Given the description of an element on the screen output the (x, y) to click on. 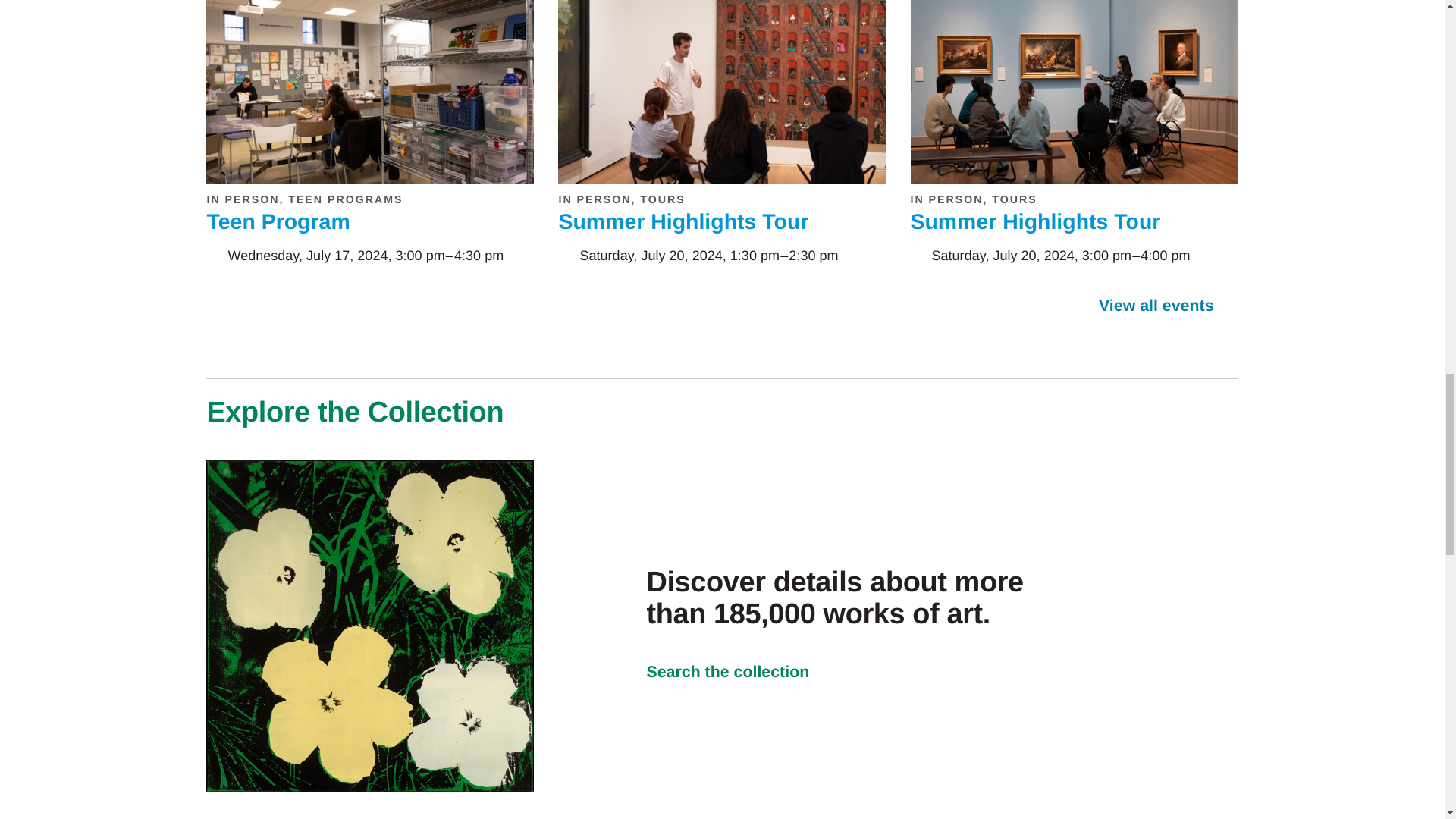
Summer Highlights Tour (1035, 221)
Teen Program (277, 221)
Summer Highlights Tour (682, 221)
Search the collection (739, 671)
View all events (1169, 305)
